Given the description of an element on the screen output the (x, y) to click on. 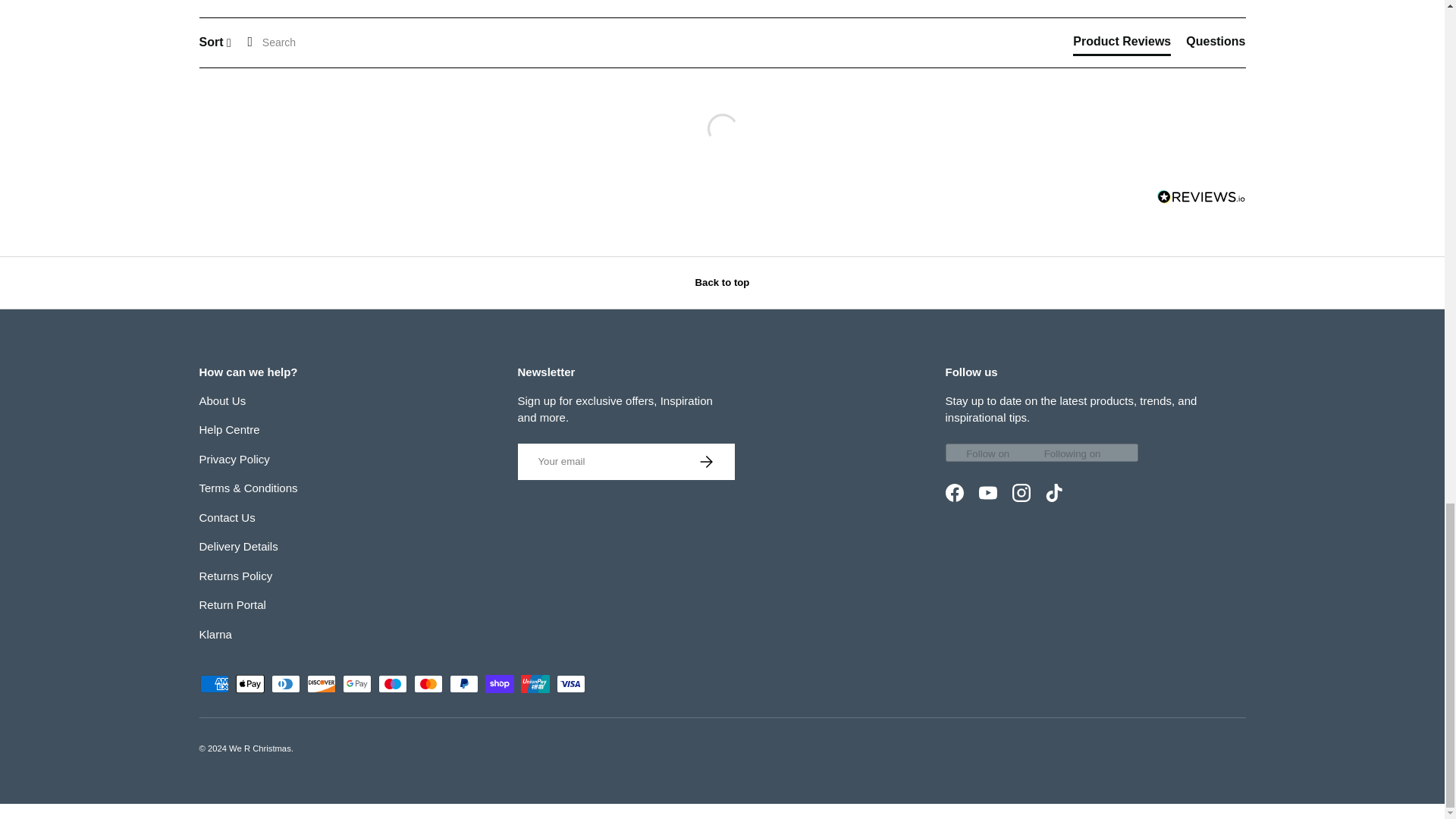
We R Christmas on Facebook (954, 492)
We R Christmas on Instagram (1020, 492)
We R Christmas on TikTok (1053, 492)
We R Christmas on YouTube (987, 492)
Search (298, 42)
